Given the description of an element on the screen output the (x, y) to click on. 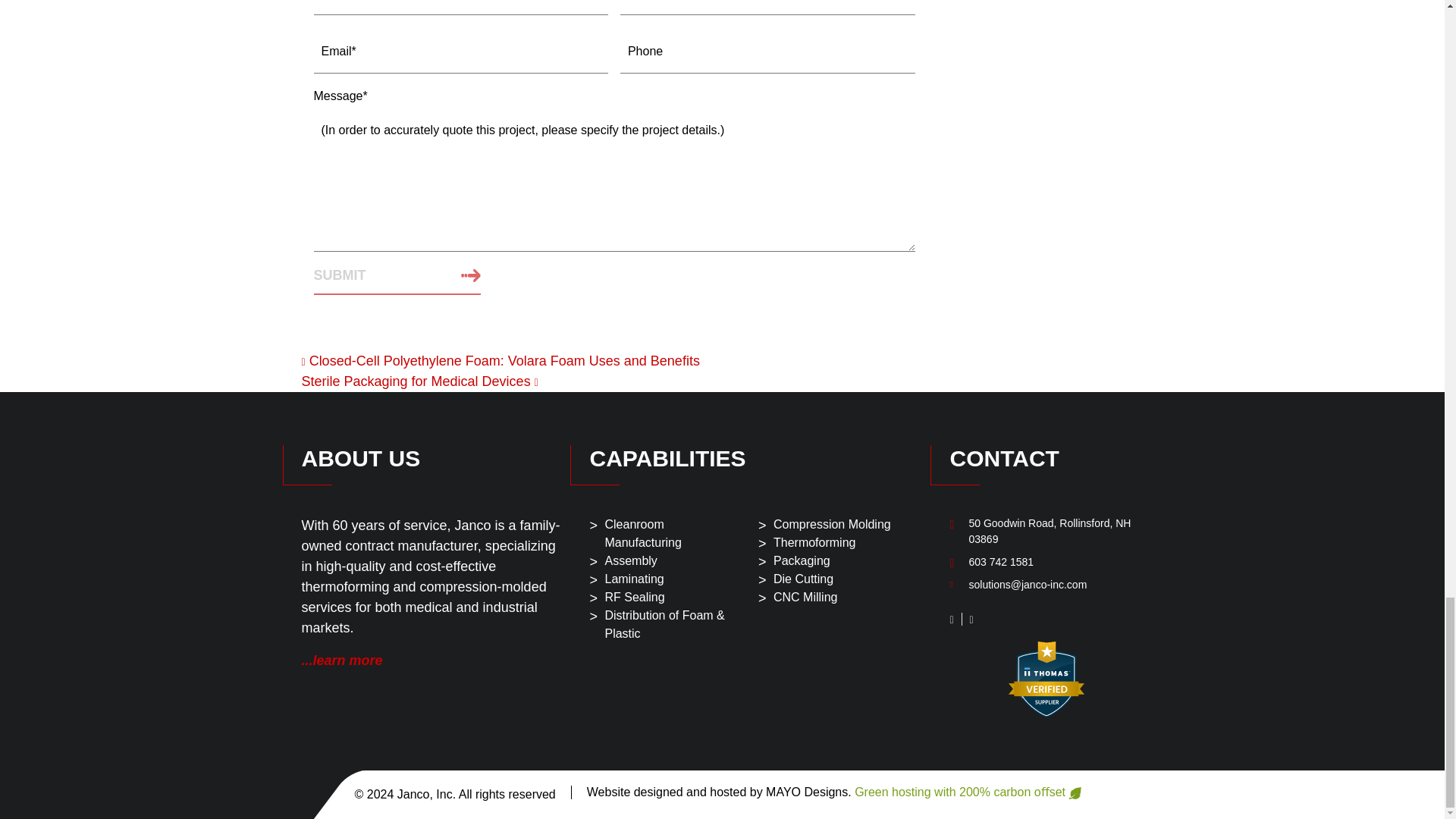
Submit (397, 275)
